Given the description of an element on the screen output the (x, y) to click on. 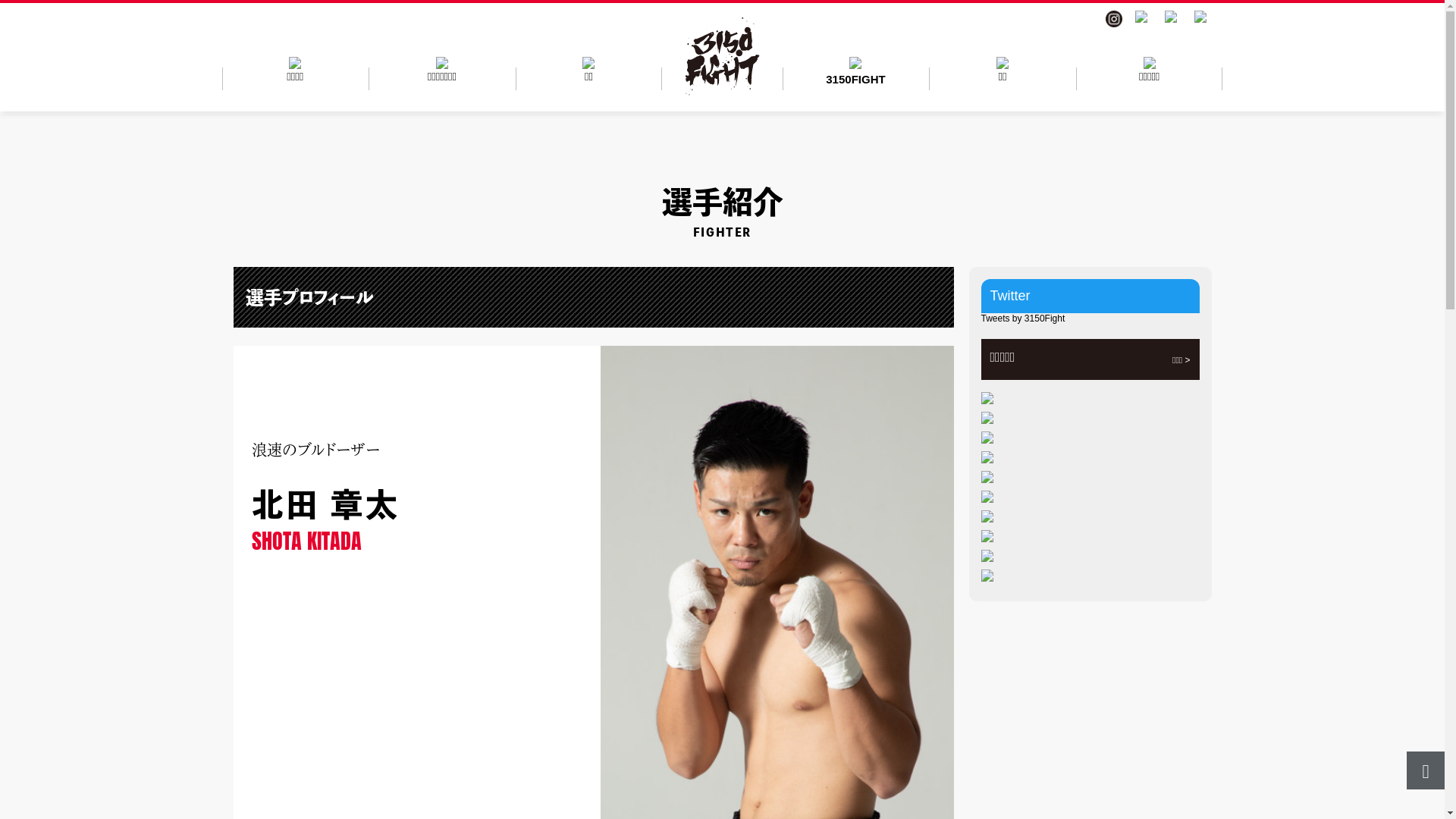
Twitter Element type: text (1010, 295)
Tweets by 3150Fight Element type: text (1023, 318)
3150FIGHT Element type: text (855, 64)
